Given the description of an element on the screen output the (x, y) to click on. 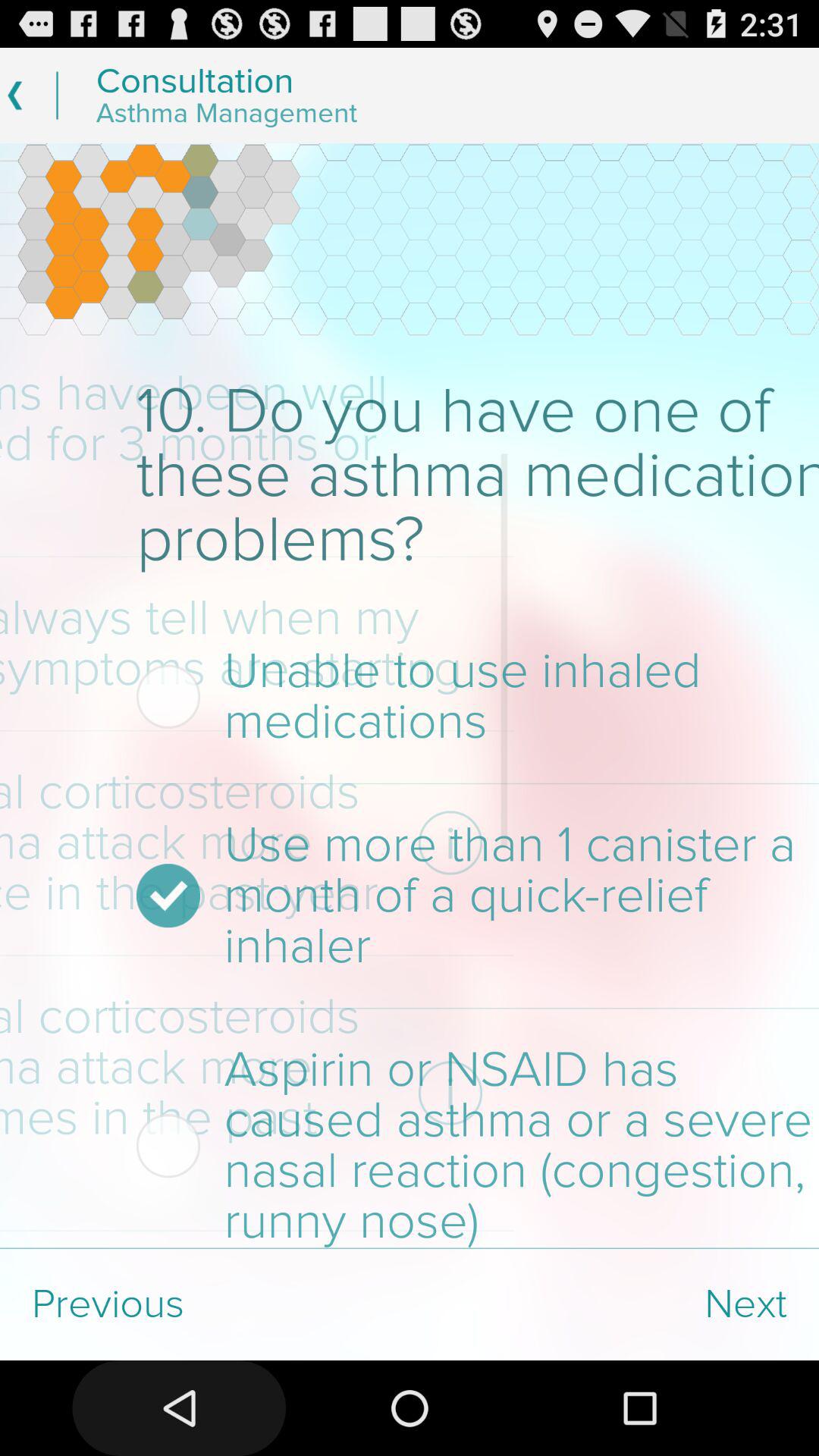
jump until previous icon (204, 1304)
